Given the description of an element on the screen output the (x, y) to click on. 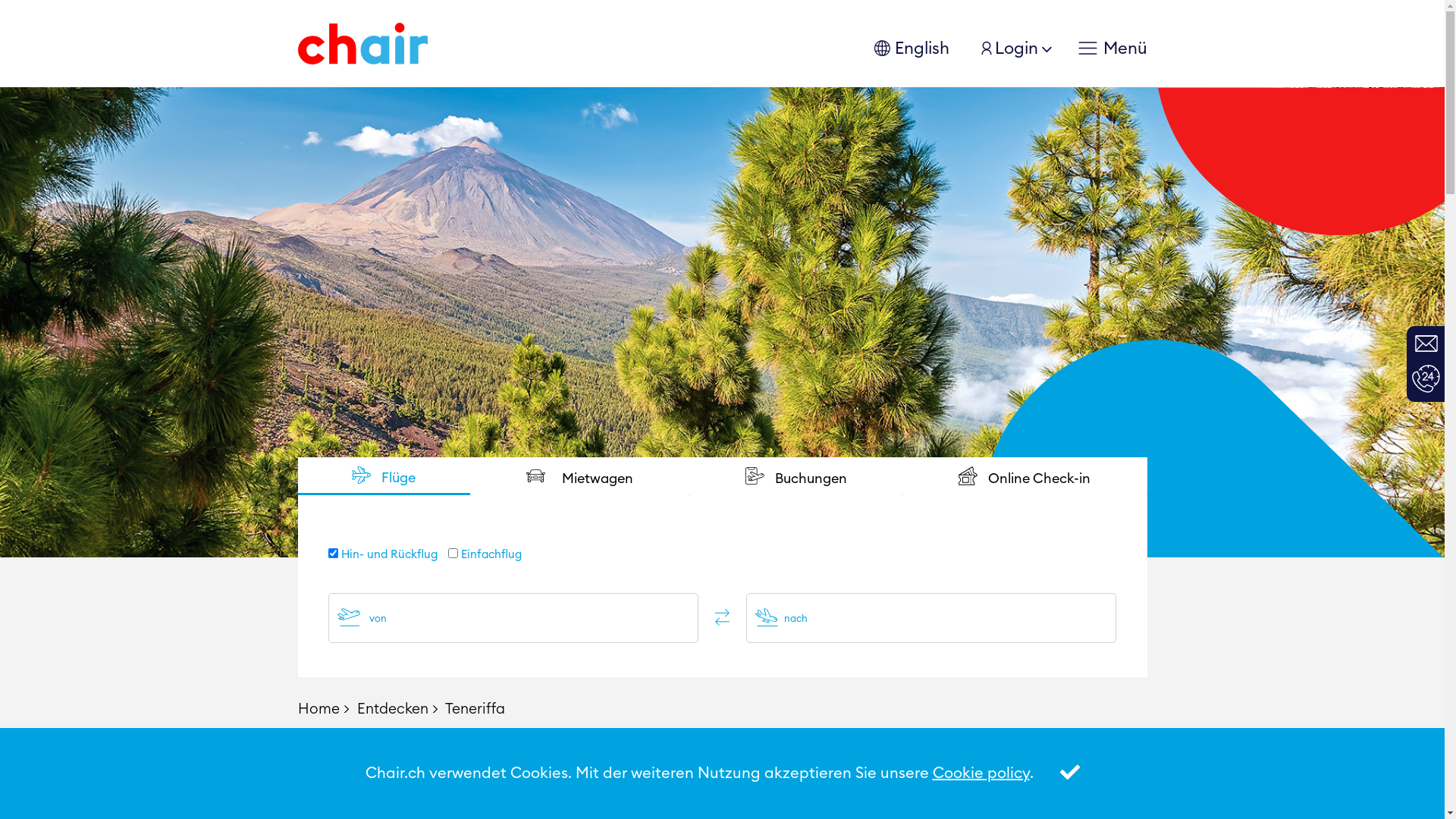
Login Element type: text (1004, 48)
Online Check-in Element type: text (1024, 476)
English Element type: text (909, 48)
Buchungen Element type: text (795, 476)
Entdecken  Element type: text (393, 709)
  Mietwagen Element type: text (579, 476)
Cookie policy Element type: text (980, 773)
  Mietwagen Element type: text (580, 476)
Home  Element type: text (319, 709)
